Given the description of an element on the screen output the (x, y) to click on. 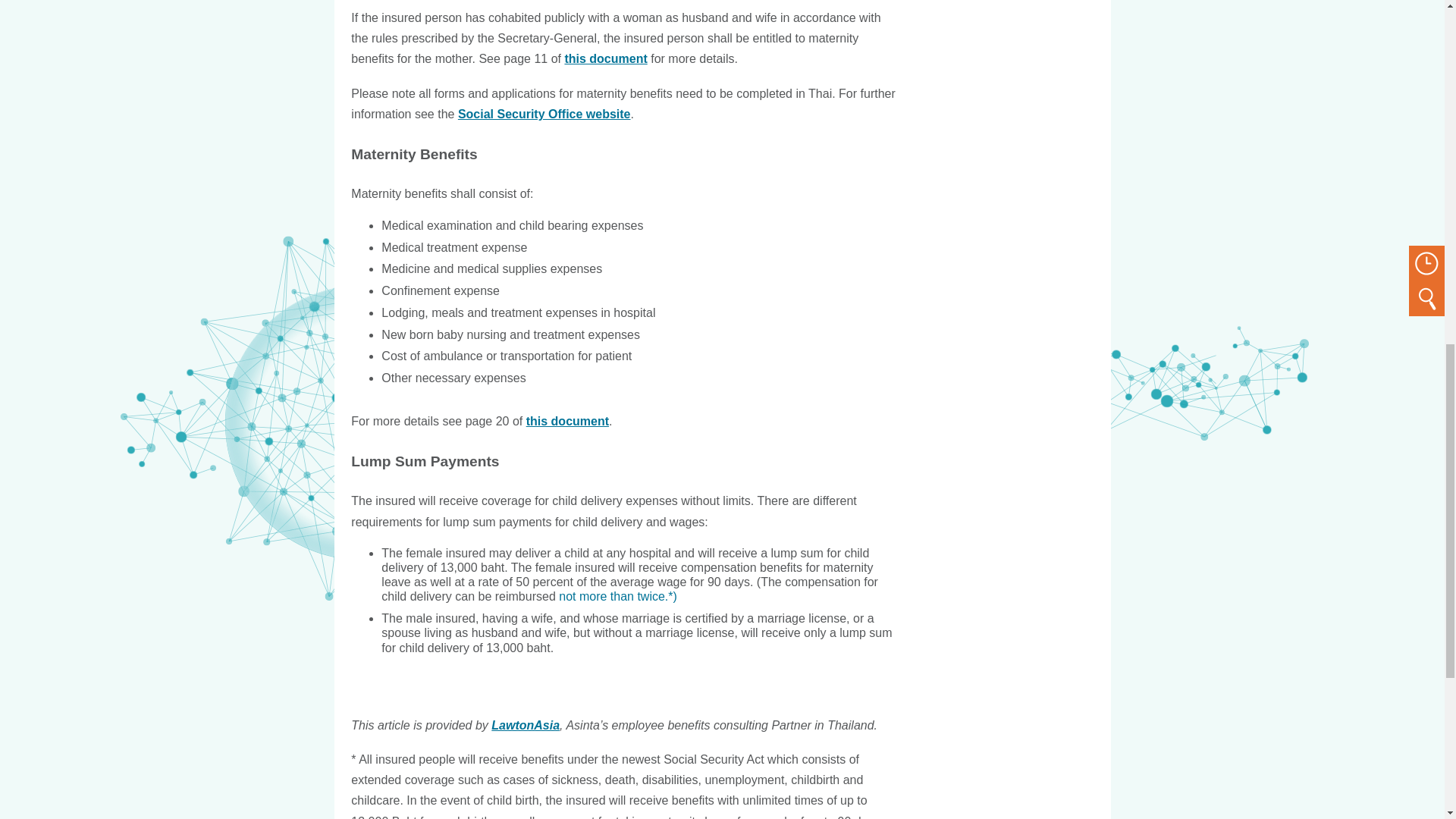
Social Security Office website (544, 113)
this document (566, 420)
this document (605, 58)
LawtonAsia (525, 725)
